Given the description of an element on the screen output the (x, y) to click on. 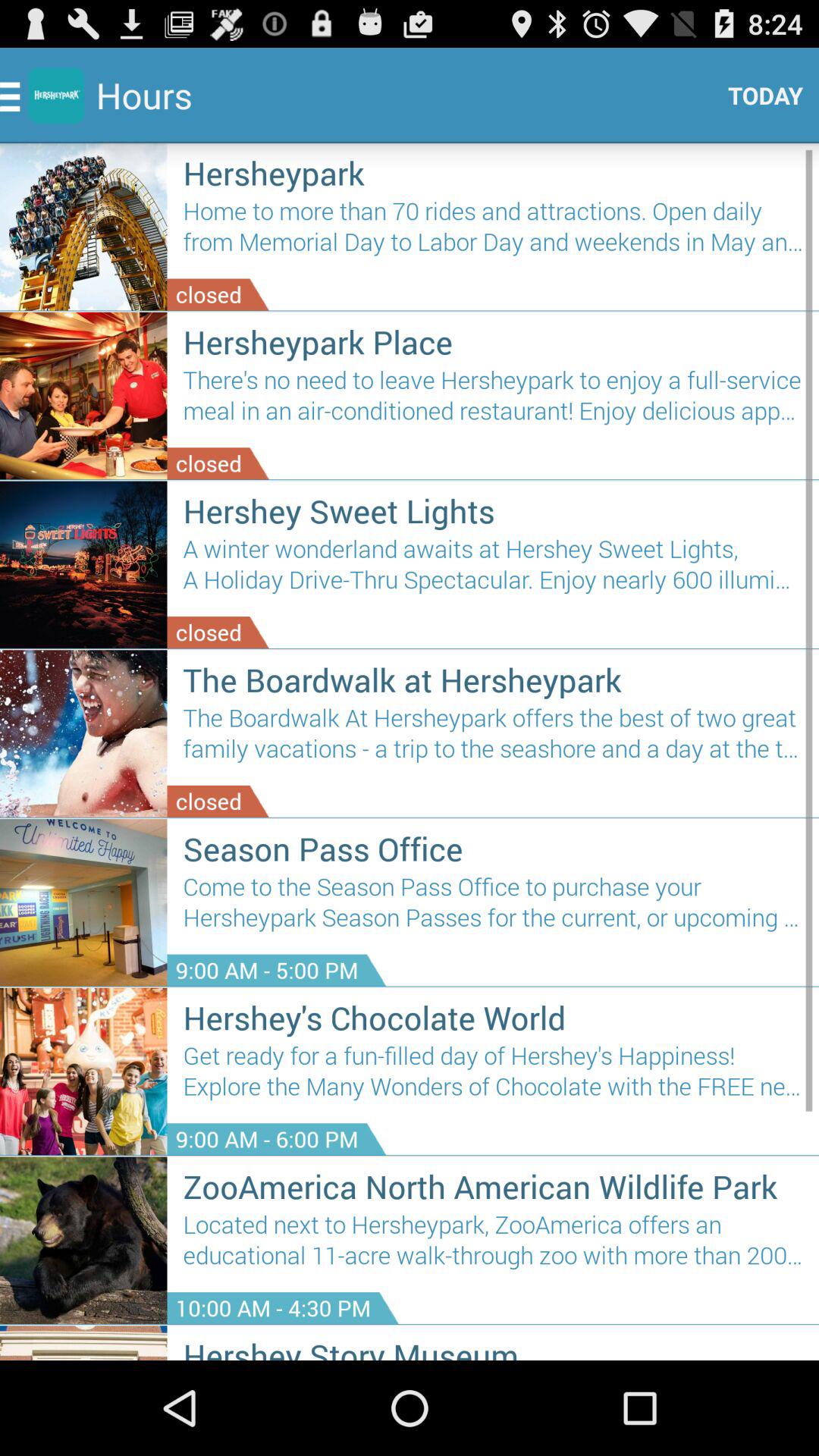
turn off item below 10 00 am icon (493, 1346)
